Given the description of an element on the screen output the (x, y) to click on. 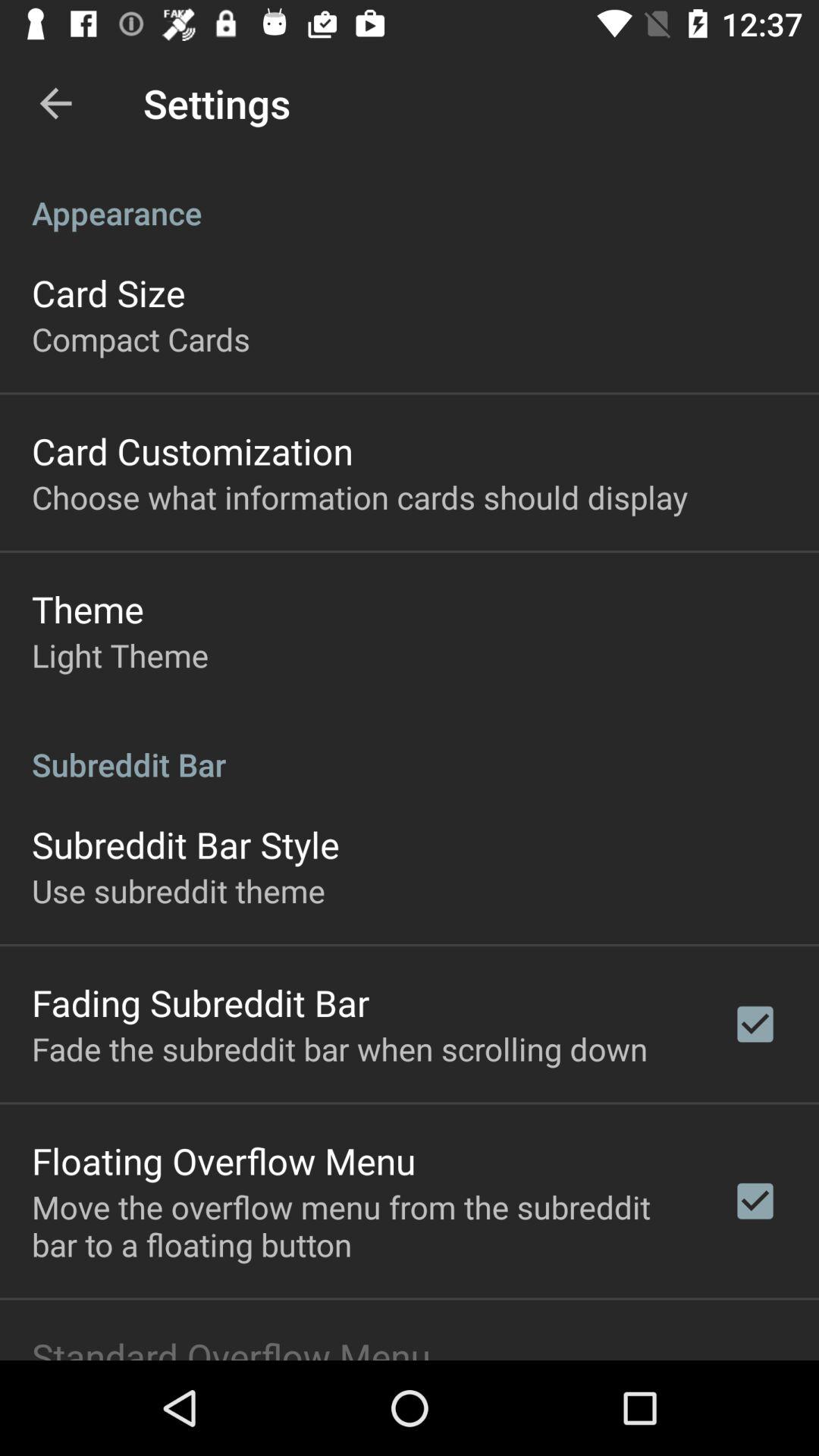
turn off choose what information (359, 496)
